Given the description of an element on the screen output the (x, y) to click on. 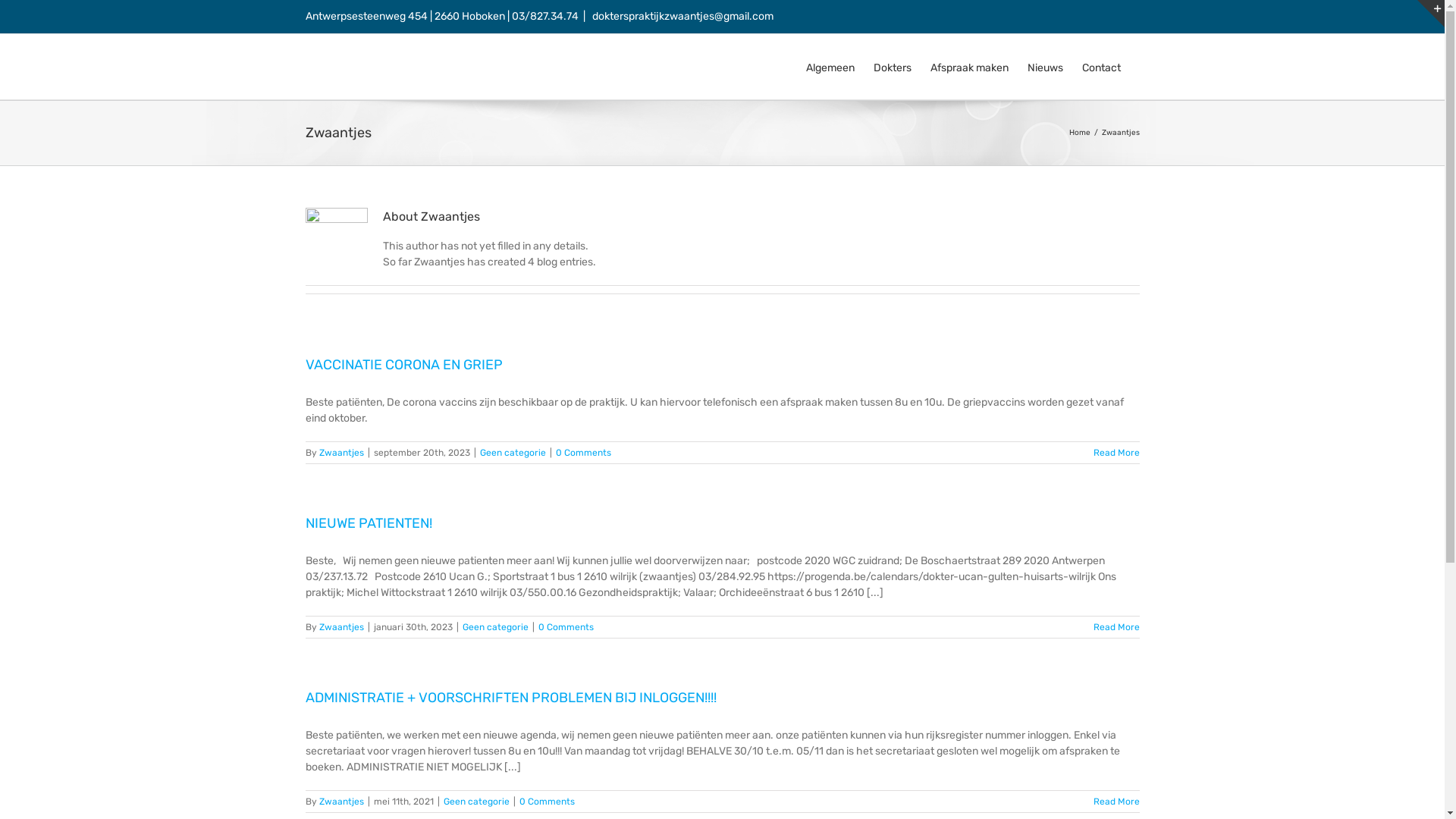
Read More Element type: text (1116, 452)
NIEUWE PATIENTEN! Element type: text (367, 522)
Geen categorie Element type: text (475, 801)
Algemeen Element type: text (829, 66)
0 Comments Element type: text (582, 452)
0 Comments Element type: text (546, 801)
Contact Element type: text (1100, 66)
Home Element type: text (1079, 132)
Zwaantjes Element type: text (340, 801)
Read More Element type: text (1116, 801)
Geen categorie Element type: text (512, 452)
Afspraak maken Element type: text (968, 66)
VACCINATIE CORONA EN GRIEP Element type: text (403, 364)
Toggle Sliding Bar Area Element type: text (1430, 13)
Read More Element type: text (1116, 626)
Zwaantjes Element type: text (340, 626)
Dokters Element type: text (892, 66)
Geen categorie Element type: text (495, 626)
Zwaantjes Element type: text (340, 452)
dokterspraktijkzwaantjes@gmail.com Element type: text (681, 15)
0 Comments Element type: text (565, 626)
Nieuws Element type: text (1044, 66)
ADMINISTRATIE + VOORSCHRIFTEN PROBLEMEN BIJ INLOGGEN!!!! Element type: text (509, 697)
